Given the description of an element on the screen output the (x, y) to click on. 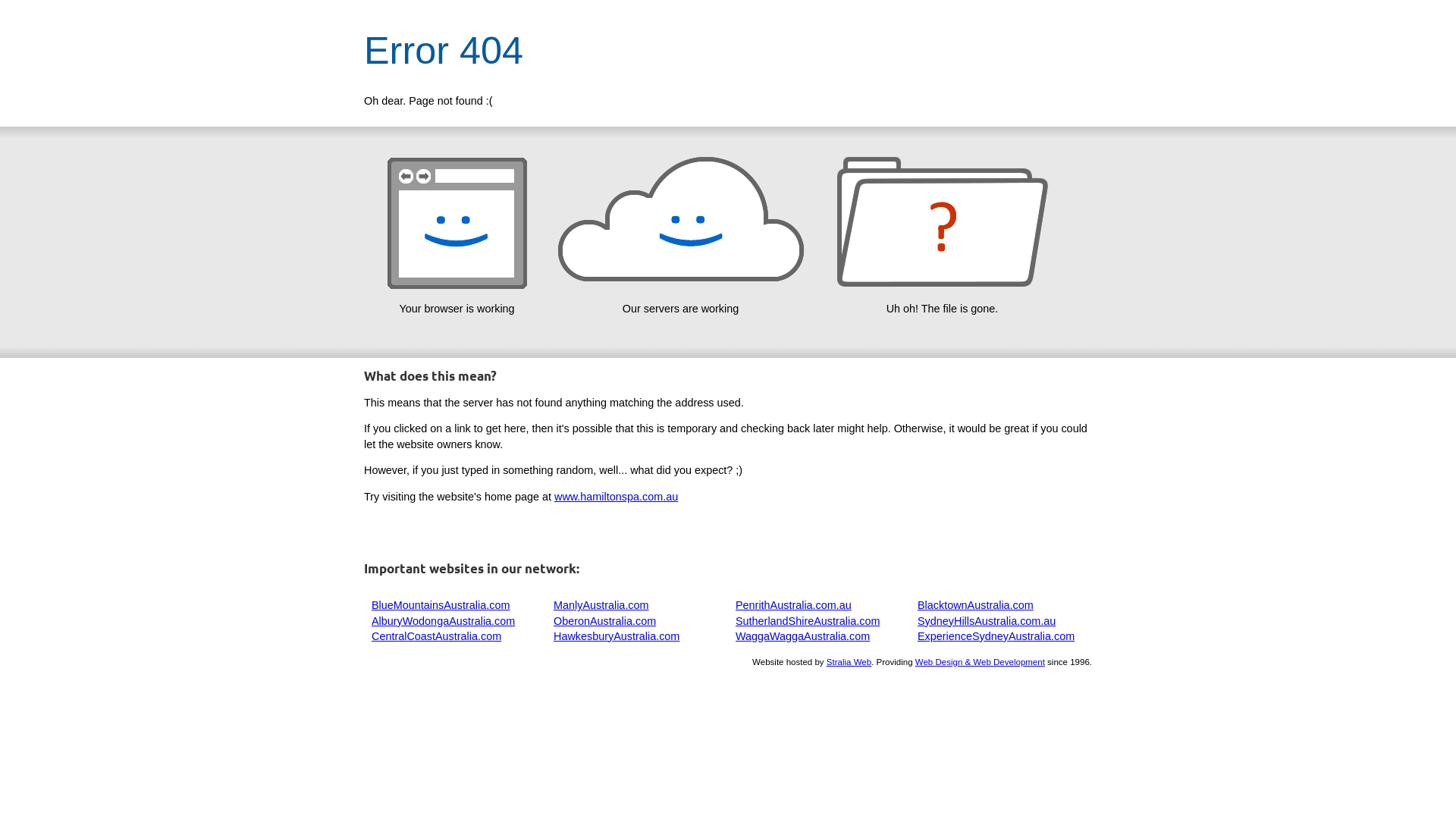
Web Design & Web Development Element type: text (979, 661)
Stralia Web Element type: text (848, 661)
HawkesburyAustralia.com Element type: text (616, 636)
ManlyAustralia.com Element type: text (601, 605)
PenrithAustralia.com.au Element type: text (793, 605)
OberonAustralia.com Element type: text (604, 621)
WaggaWaggaAustralia.com Element type: text (802, 636)
BlueMountainsAustralia.com Element type: text (440, 605)
SydneyHillsAustralia.com.au Element type: text (986, 621)
AlburyWodongaAustralia.com Element type: text (442, 621)
CentralCoastAustralia.com Element type: text (436, 636)
ExperienceSydneyAustralia.com Element type: text (995, 636)
SutherlandShireAustralia.com Element type: text (807, 621)
www.hamiltonspa.com.au Element type: text (615, 496)
BlacktownAustralia.com Element type: text (975, 605)
